Given the description of an element on the screen output the (x, y) to click on. 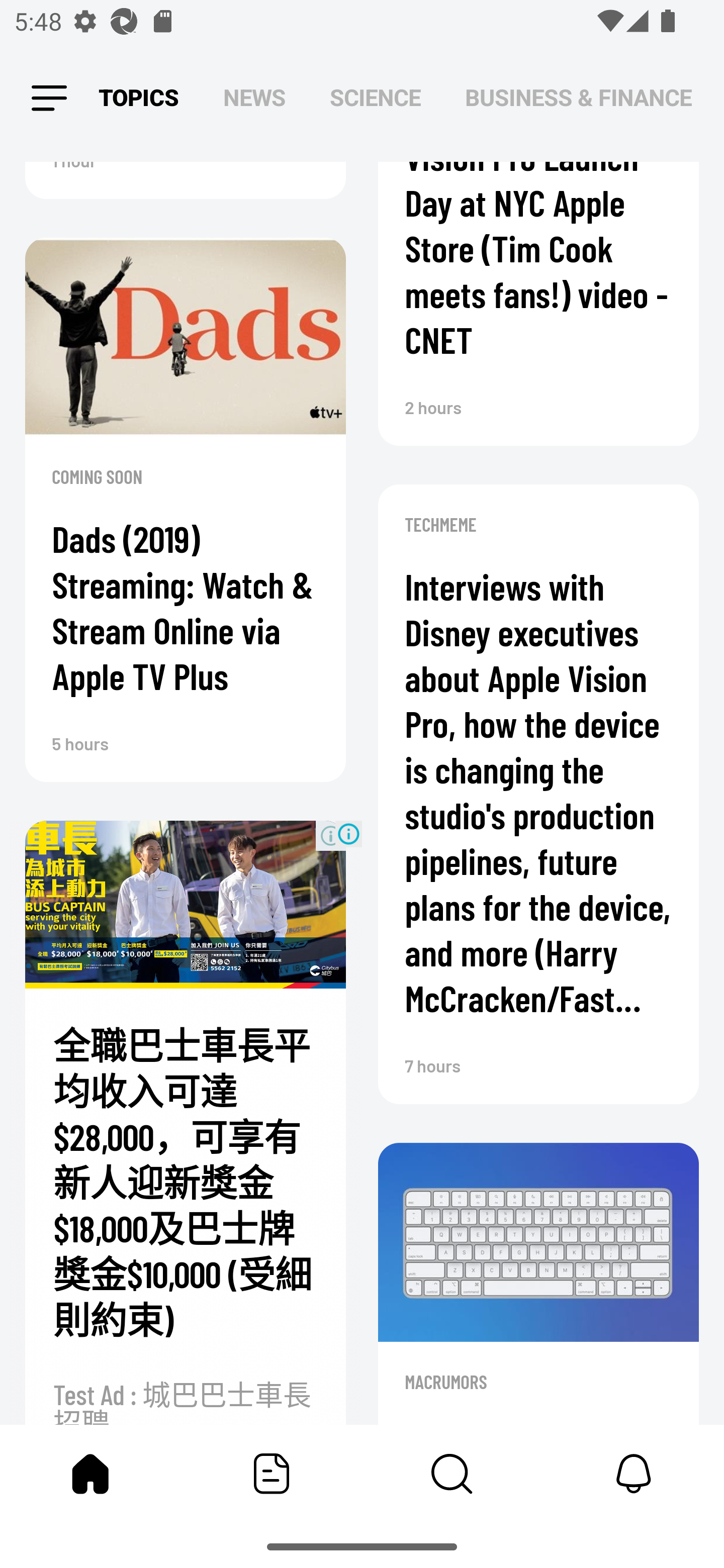
Leading Icon (49, 98)
NEWS (254, 97)
SCIENCE (375, 97)
BUSINESS & FINANCE (578, 97)
Ad Choices Icon (348, 833)
Featured (271, 1473)
Content Store (452, 1473)
Notifications (633, 1473)
